Given the description of an element on the screen output the (x, y) to click on. 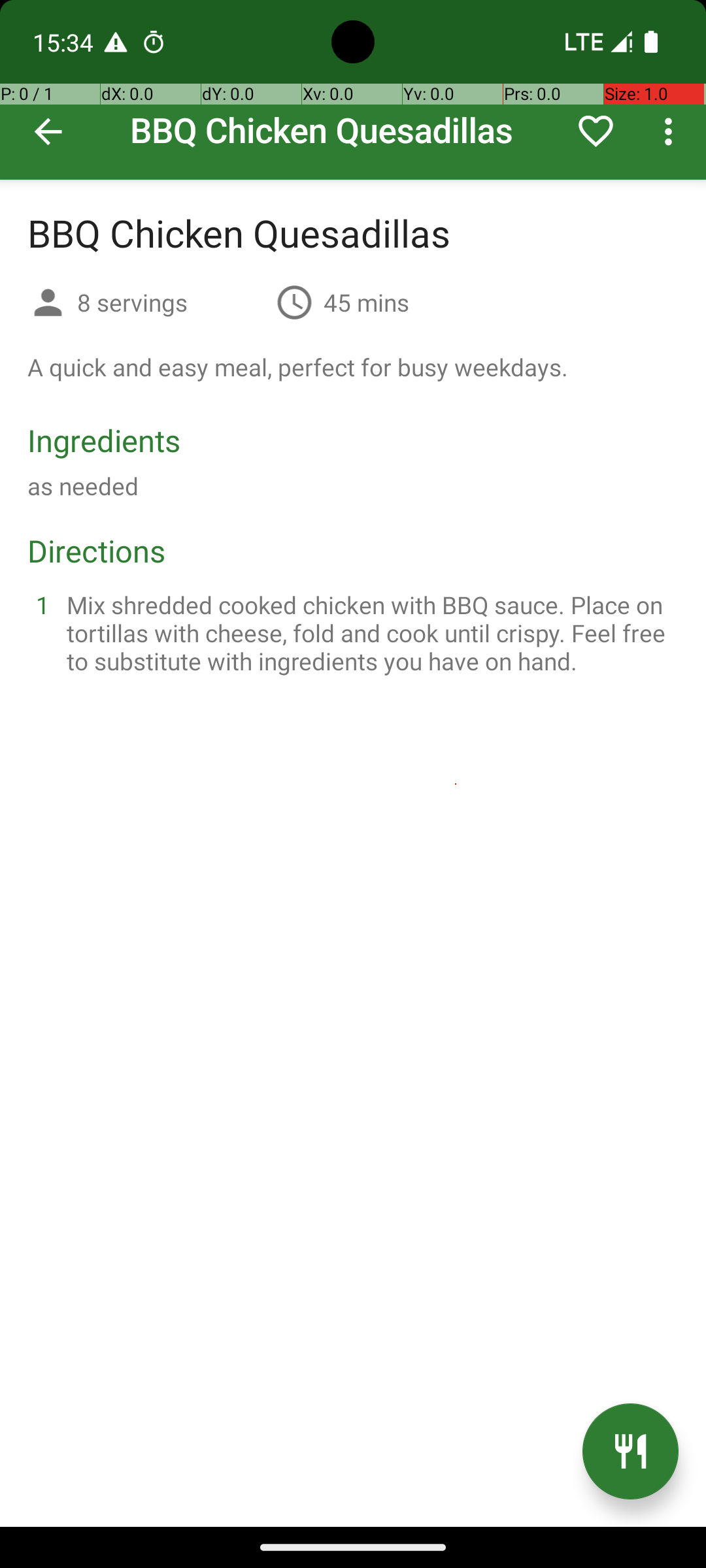
Mix shredded cooked chicken with BBQ sauce. Place on tortillas with cheese, fold and cook until crispy. Feel free to substitute with ingredients you have on hand. Element type: android.widget.TextView (368, 632)
